Given the description of an element on the screen output the (x, y) to click on. 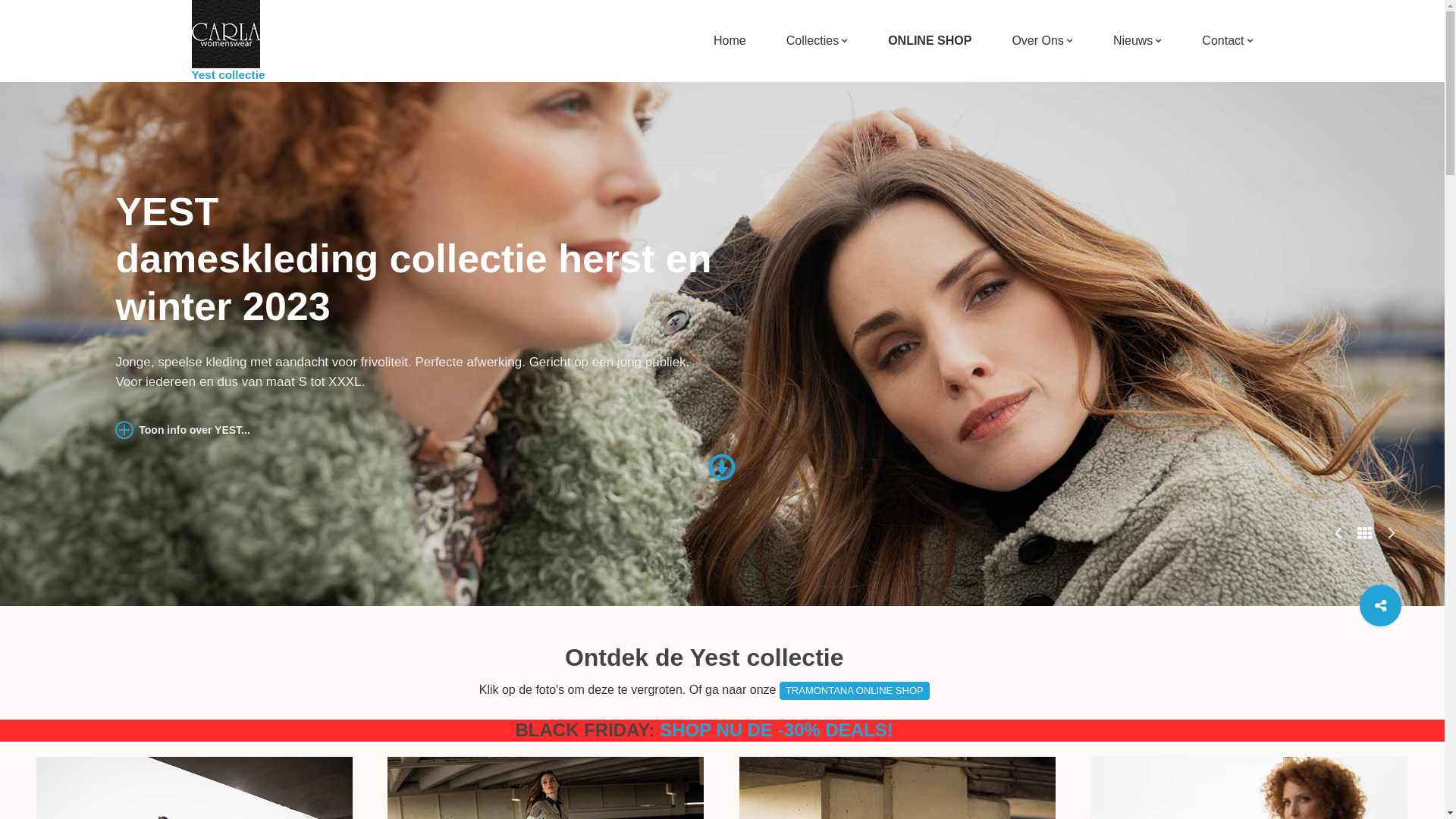
Yest collectie Element type: text (227, 40)
Collecties Element type: text (812, 40)
Nieuws Element type: text (1132, 40)
TRAMONTANA ONLINE SHOP Element type: text (854, 690)
Deel deze pagina Element type: hover (1380, 605)
ONLINE SHOP Element type: text (929, 40)
Toon info over YEST... Element type: text (182, 426)
Contact Element type: text (1222, 40)
Home Element type: text (729, 40)
Over Ons Element type: text (1037, 40)
Terug naar merken overzicht Element type: hover (1364, 533)
Volgende Merk Element type: hover (1391, 530)
Vorige Merk Element type: hover (1338, 530)
SHOP NU DE -30% DEALS! Element type: text (776, 729)
